Given the description of an element on the screen output the (x, y) to click on. 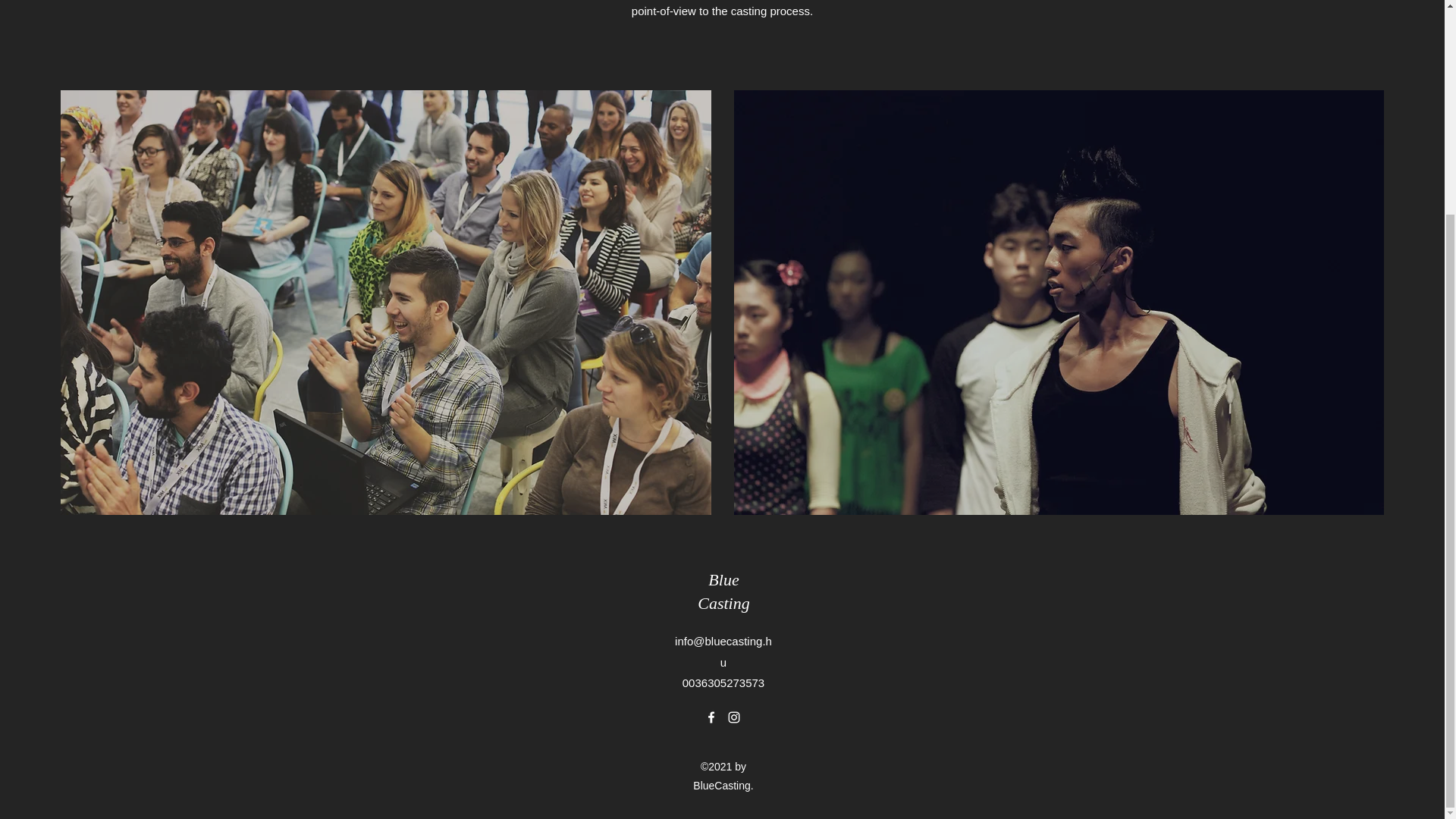
Blue Casting (723, 591)
